Given the description of an element on the screen output the (x, y) to click on. 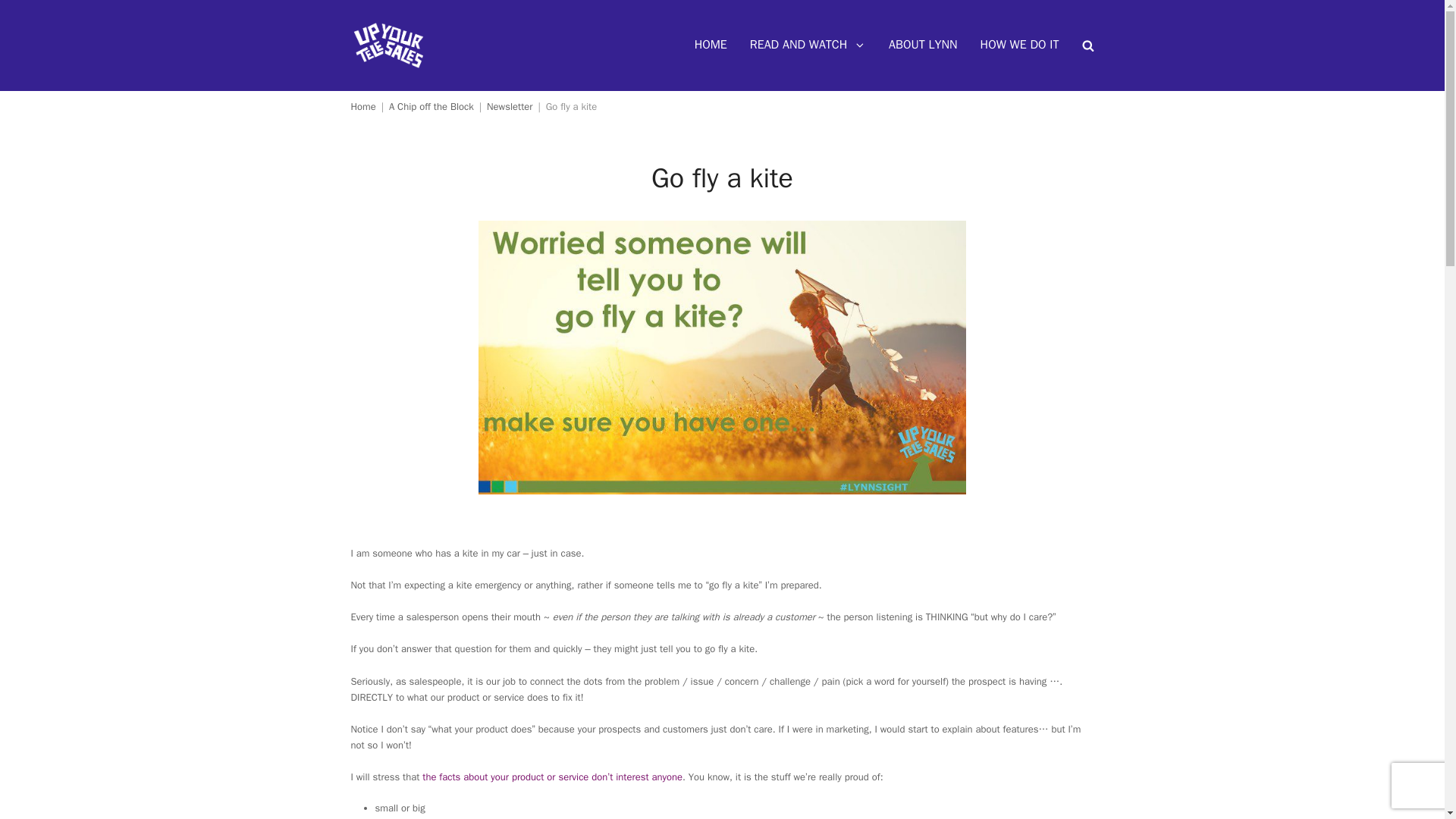
ABOUT LYNN (922, 45)
A Chip off the Block (431, 106)
READ AND WATCH (807, 45)
HOME (710, 45)
Newsletter (509, 106)
Home (362, 106)
HOW WE DO IT (1019, 45)
